Given the description of an element on the screen output the (x, y) to click on. 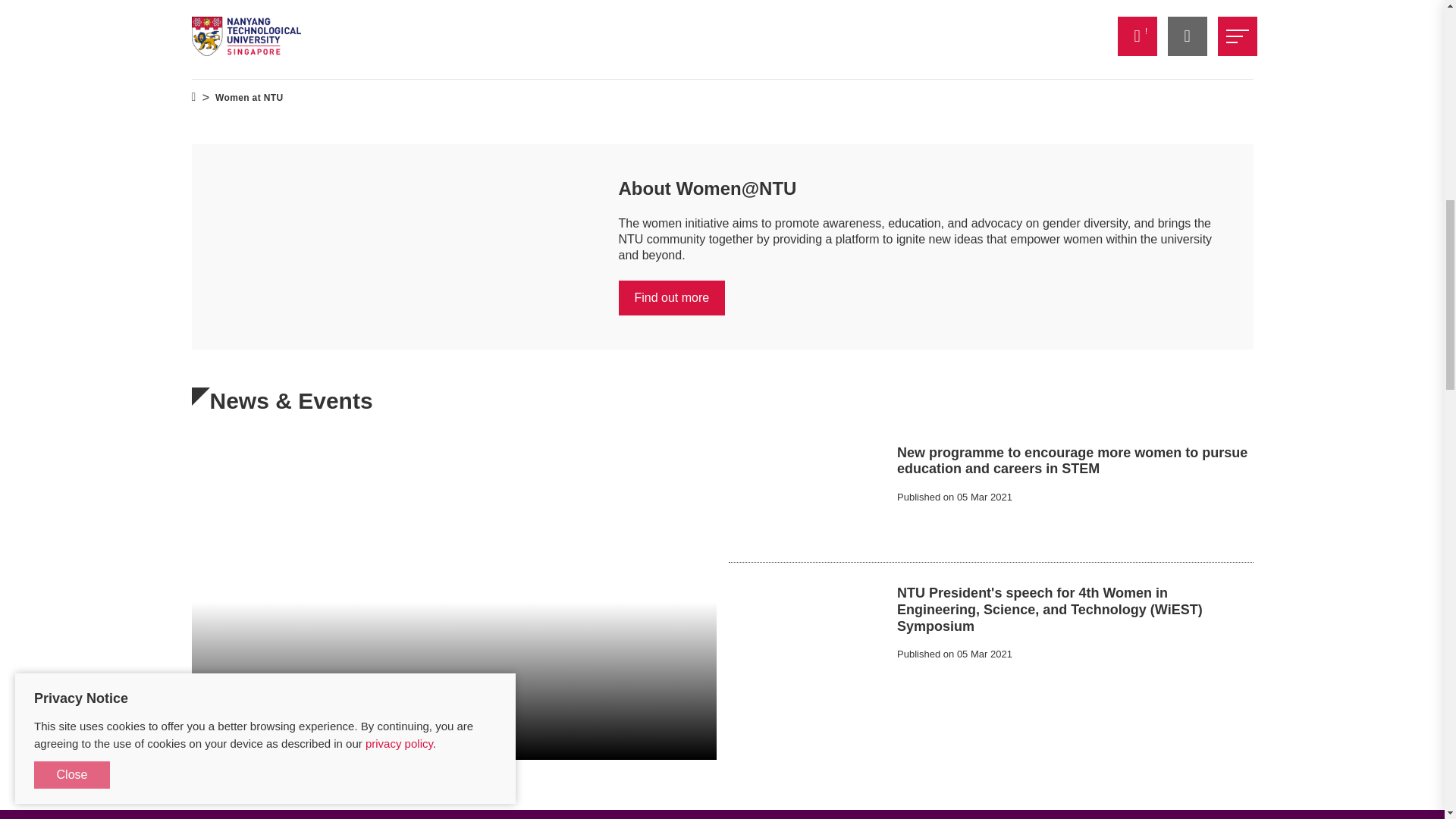
POWERS launch (806, 492)
NTU President at WiEST (806, 632)
